Given the description of an element on the screen output the (x, y) to click on. 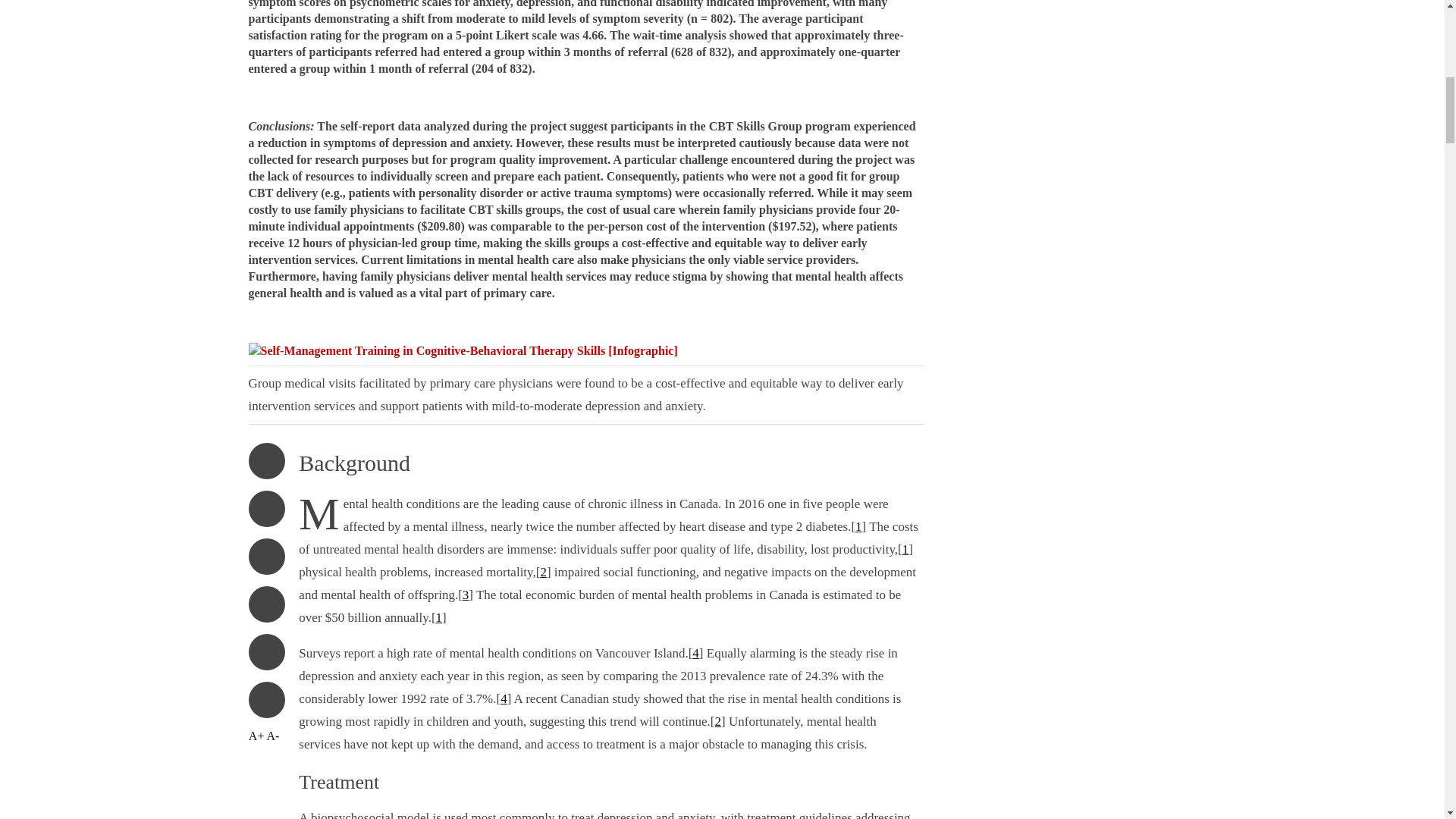
View a PDF of this article (266, 508)
Share this article on Twitter (266, 699)
Send this page by email. (266, 604)
Display a printer-friendly version of this page. (266, 556)
View this issue (266, 461)
Share this article on Facebook (266, 651)
